Given the description of an element on the screen output the (x, y) to click on. 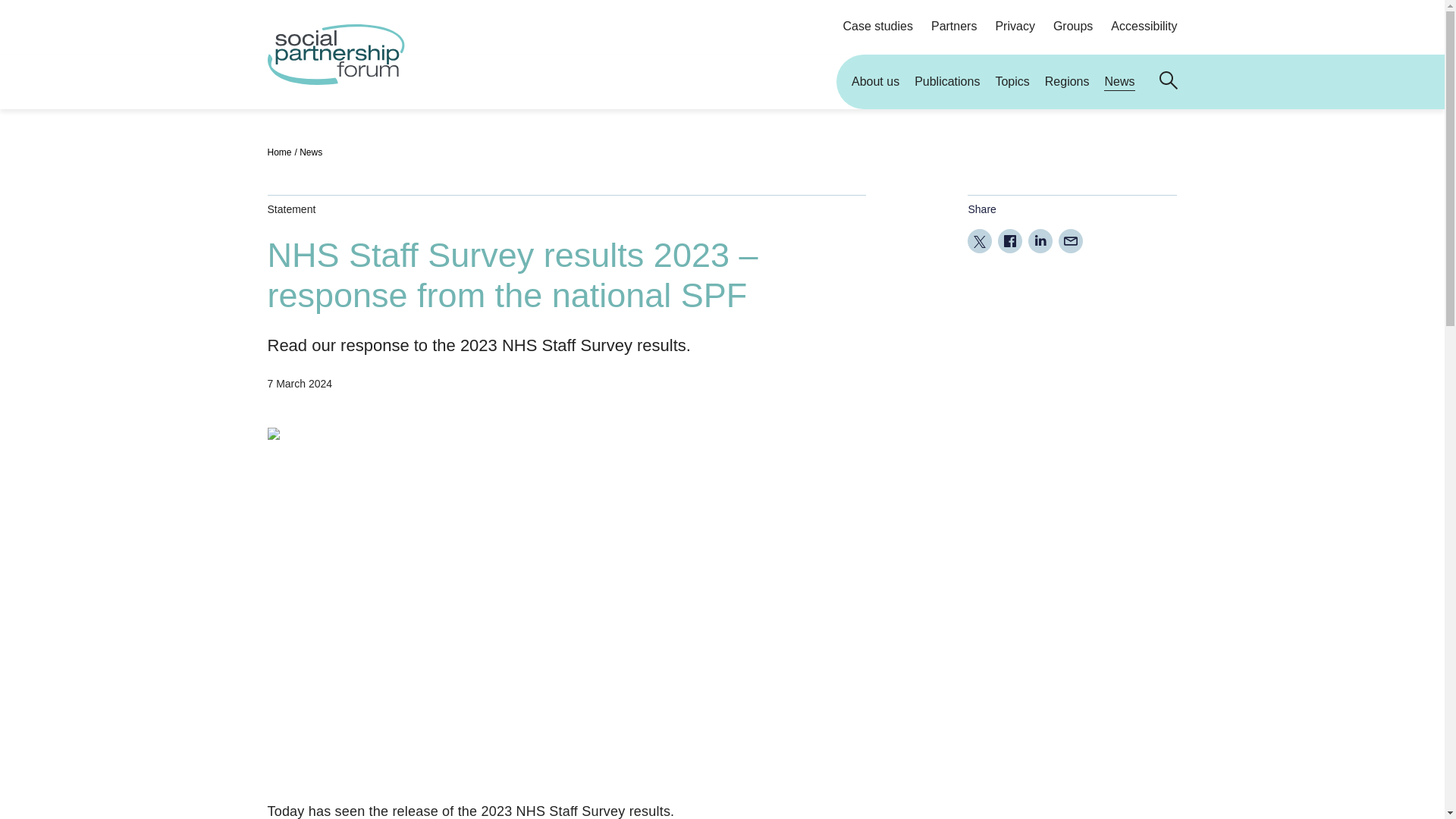
Share on Facebook (1009, 241)
Twitter logo (1113, 784)
Go back to the homepage (335, 80)
News (310, 152)
Partners (944, 26)
Email icon (1070, 241)
LinkedIn logo (1039, 241)
Share on Email (1070, 241)
Share on Linkedin (1039, 241)
Groups (1064, 26)
